Given the description of an element on the screen output the (x, y) to click on. 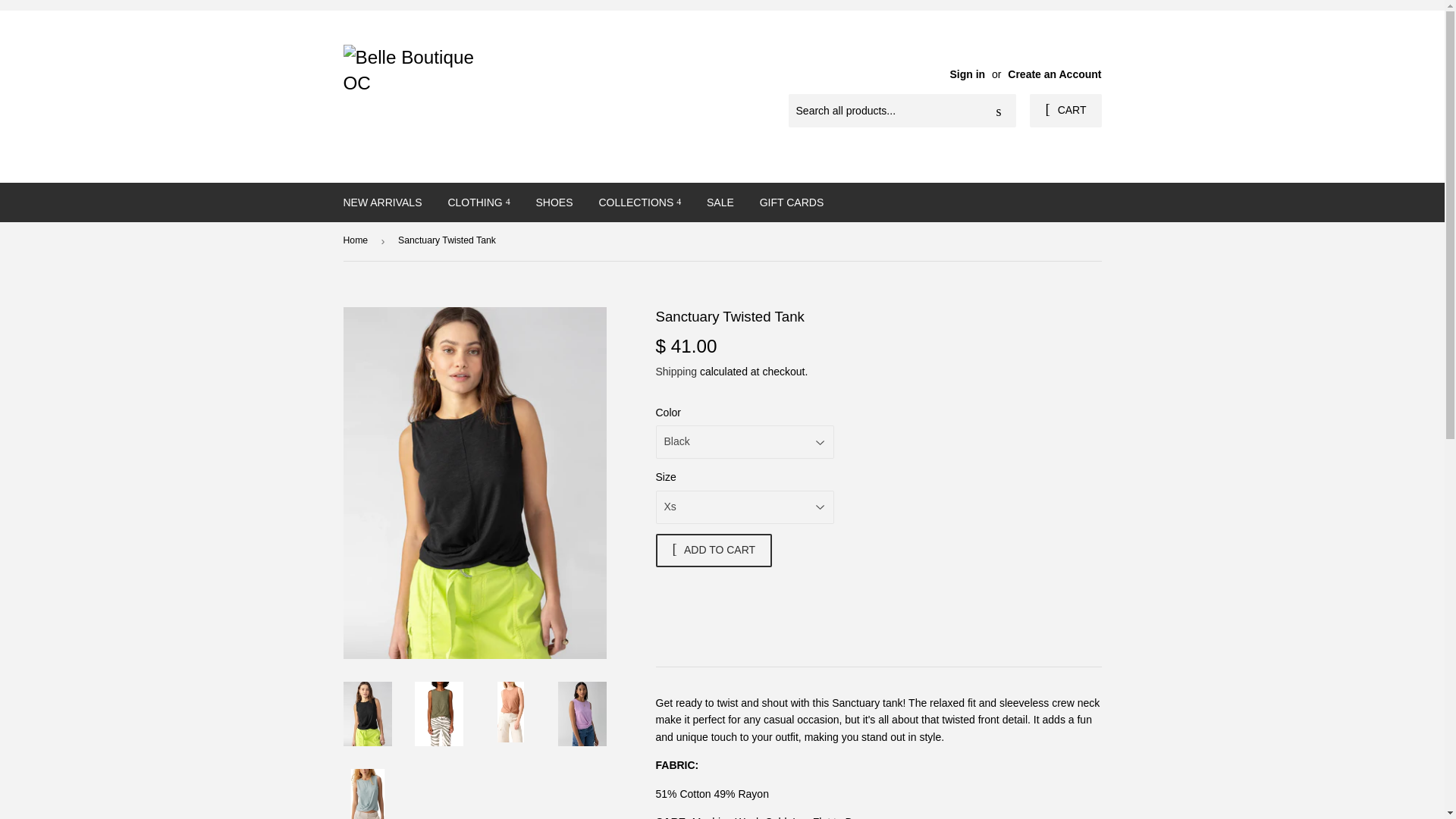
Create an Account (1053, 73)
NEW ARRIVALS (382, 201)
CART (1064, 110)
Search (998, 111)
Sign in (967, 73)
CLOTHING (478, 201)
